Given the description of an element on the screen output the (x, y) to click on. 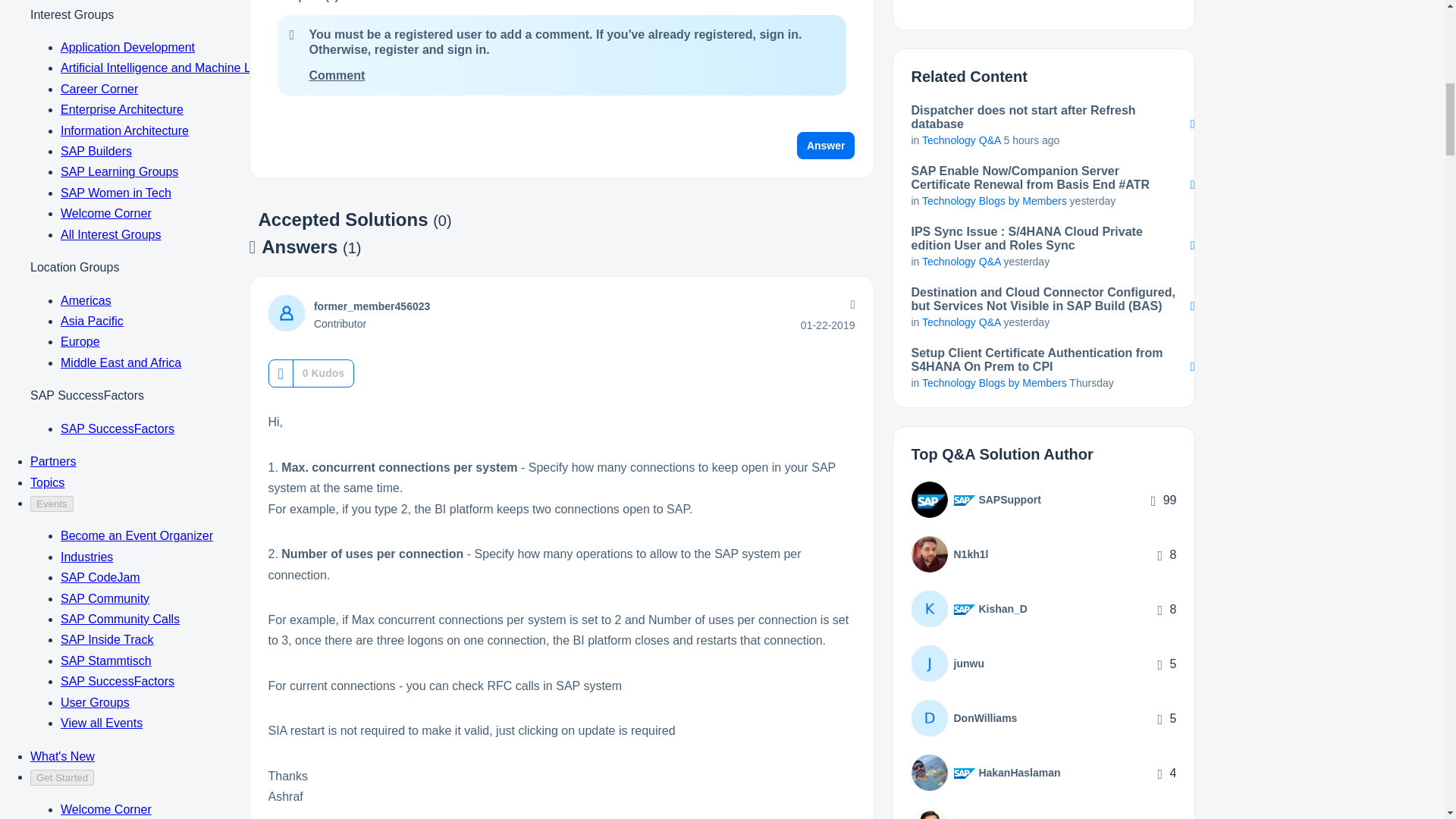
Posted on (828, 325)
Answer (826, 144)
Comment (336, 74)
